Given the description of an element on the screen output the (x, y) to click on. 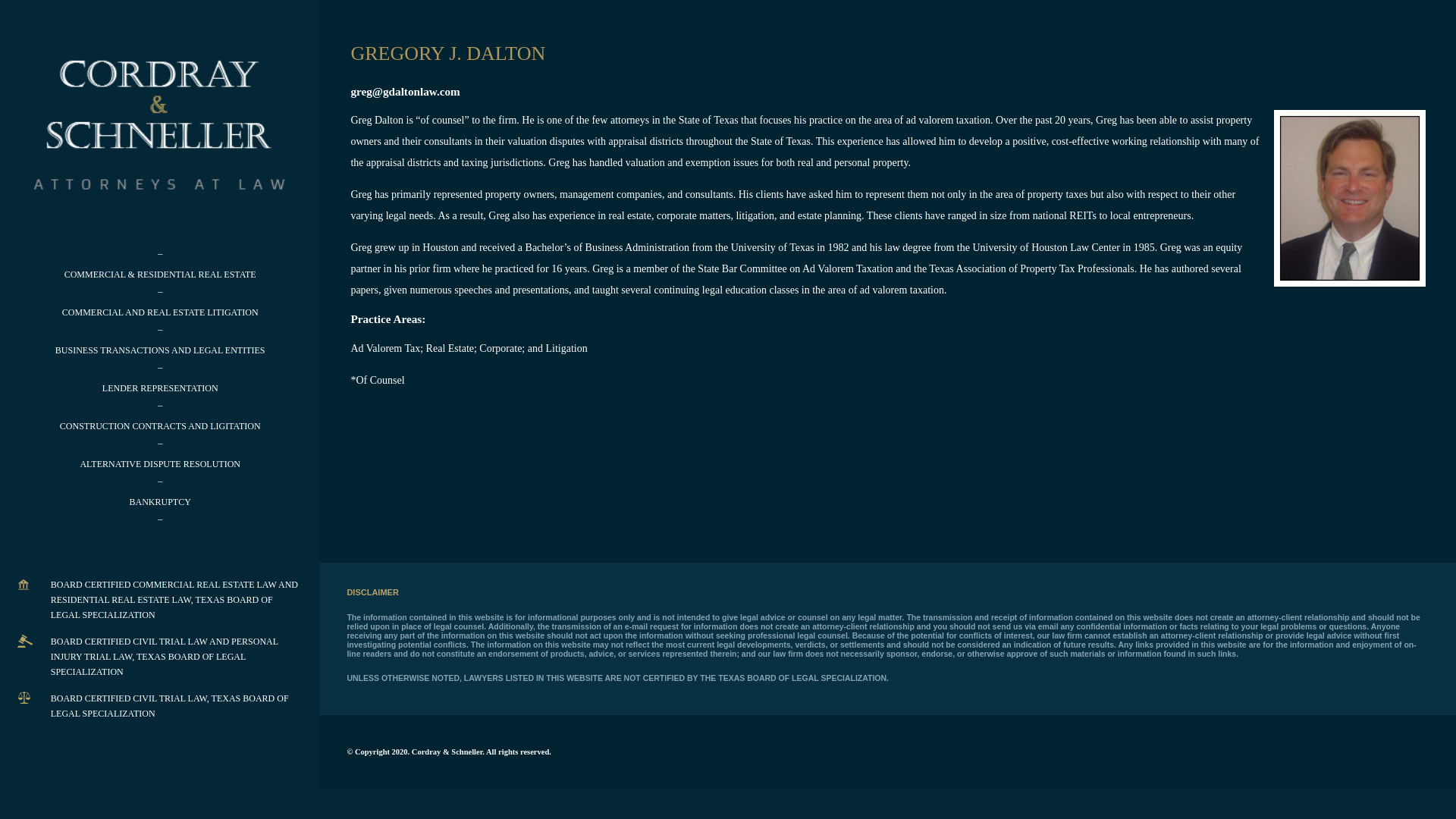
BUSINESS TRANSACTIONS AND LEGAL ENTITIES (159, 349)
COMMERCIAL AND REAL ESTATE LITIGATION (160, 312)
LENDER REPRESENTATION (159, 388)
BANKRUPTCY (159, 501)
CONSTRUCTION CONTRACTS AND LIGITATION (159, 425)
ALTERNATIVE DISPUTE RESOLUTION (160, 463)
